Given the description of an element on the screen output the (x, y) to click on. 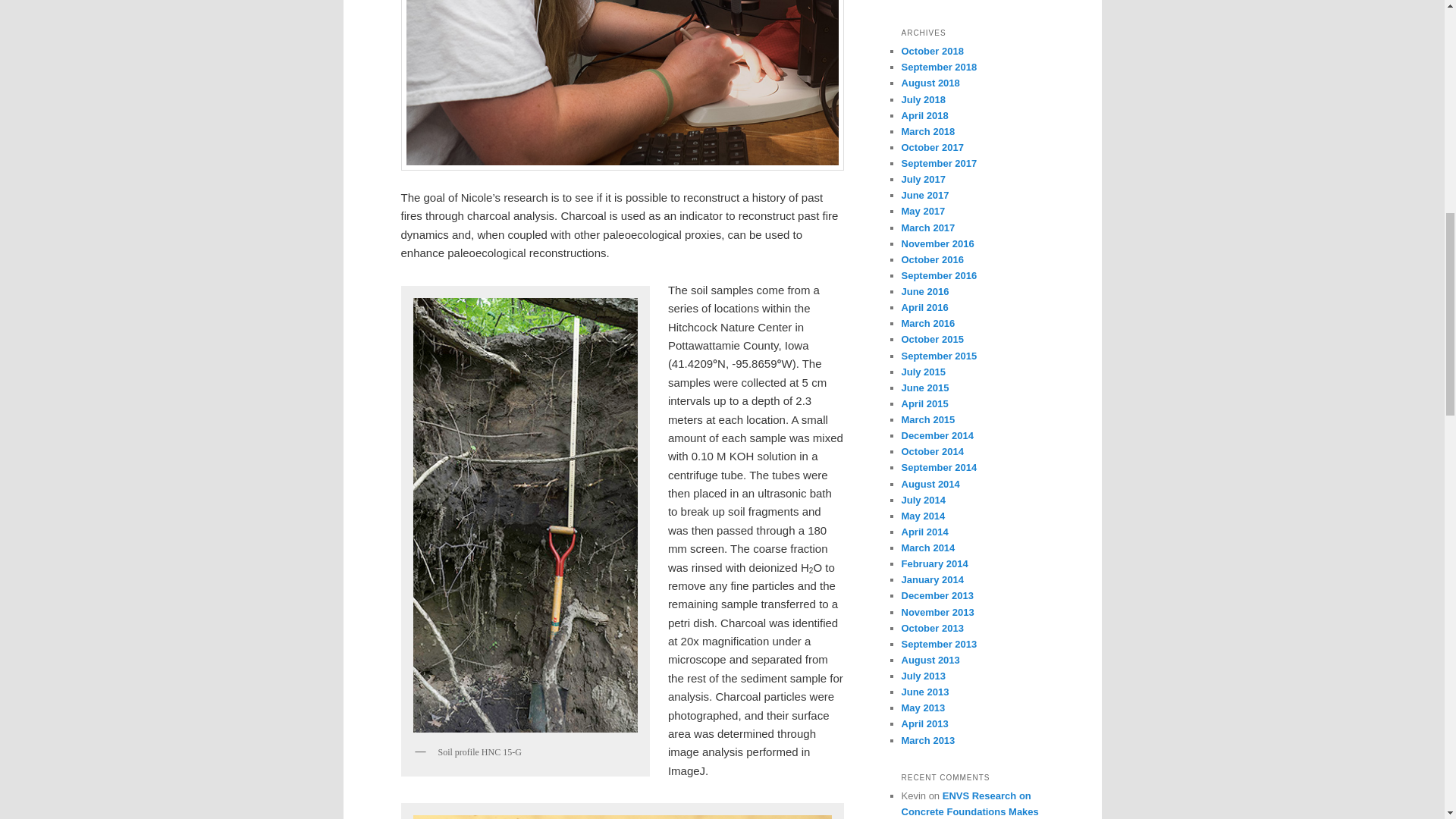
October 2018 (931, 50)
October 2017 (931, 147)
September 2017 (938, 163)
May 2017 (922, 211)
September 2018 (938, 66)
April 2018 (924, 115)
July 2017 (922, 179)
June 2017 (925, 194)
July 2018 (922, 99)
November 2016 (937, 243)
